Given the description of an element on the screen output the (x, y) to click on. 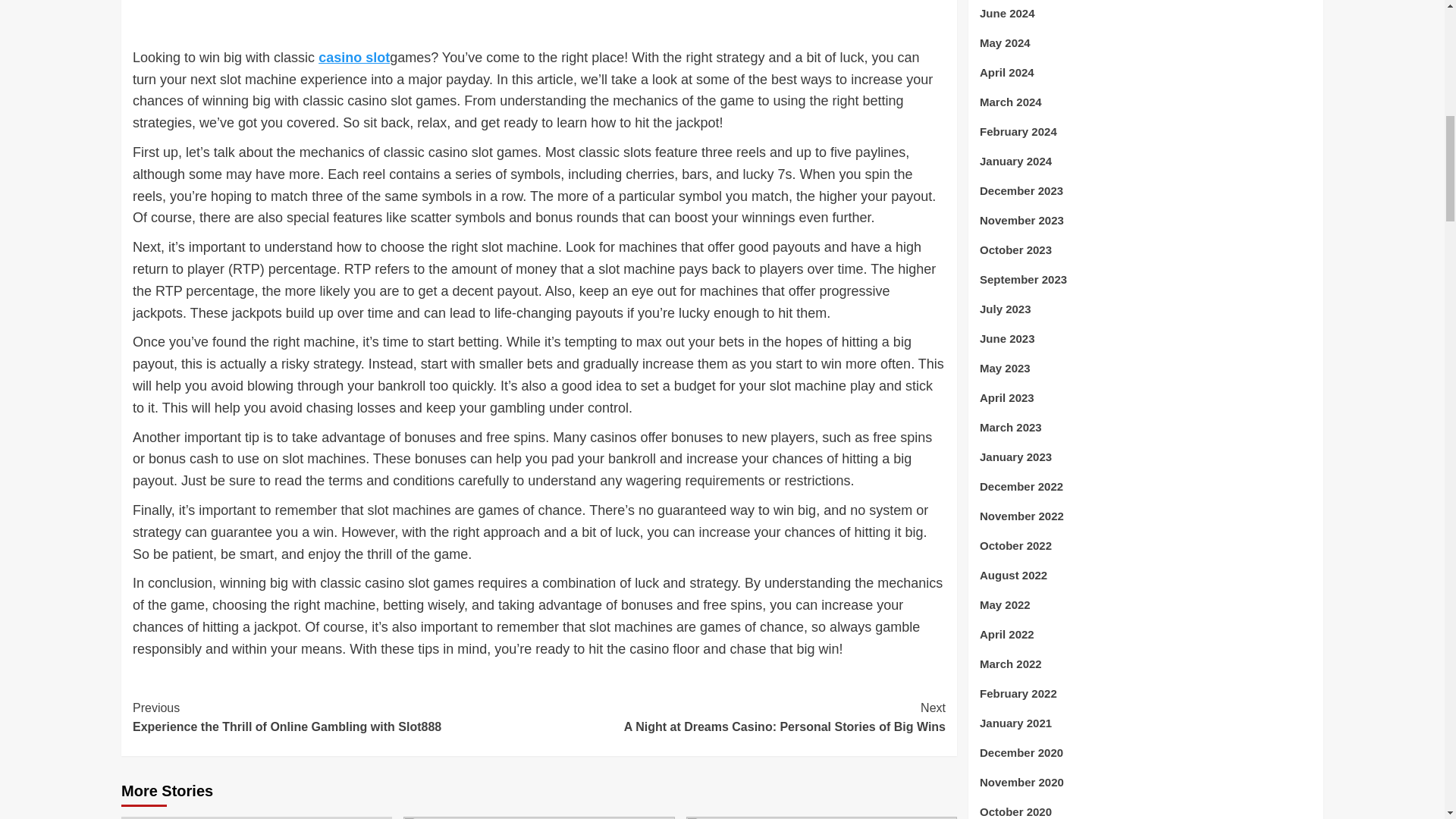
casino slot (741, 717)
